Given the description of an element on the screen output the (x, y) to click on. 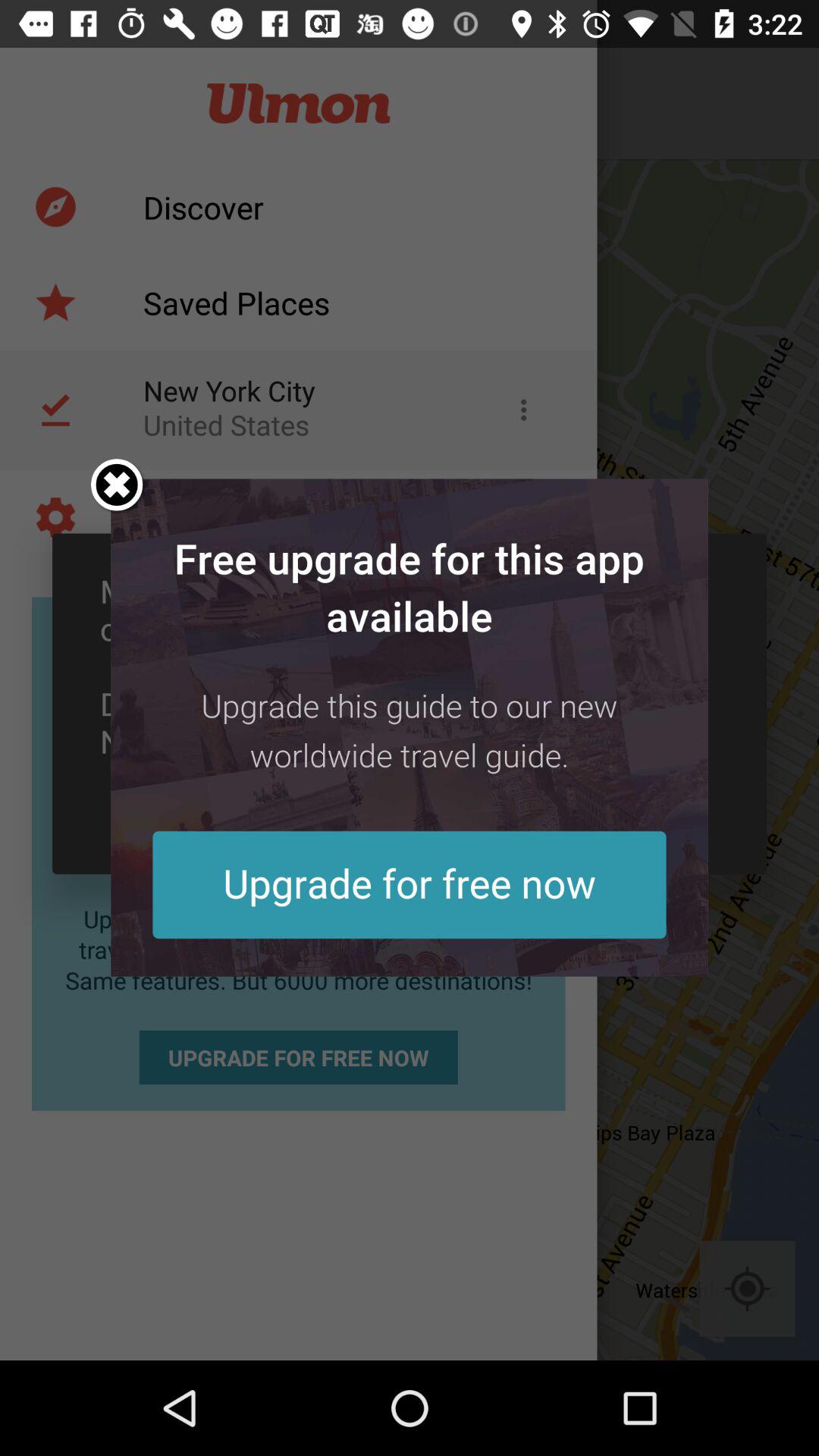
upgrade advertisement (409, 727)
